Given the description of an element on the screen output the (x, y) to click on. 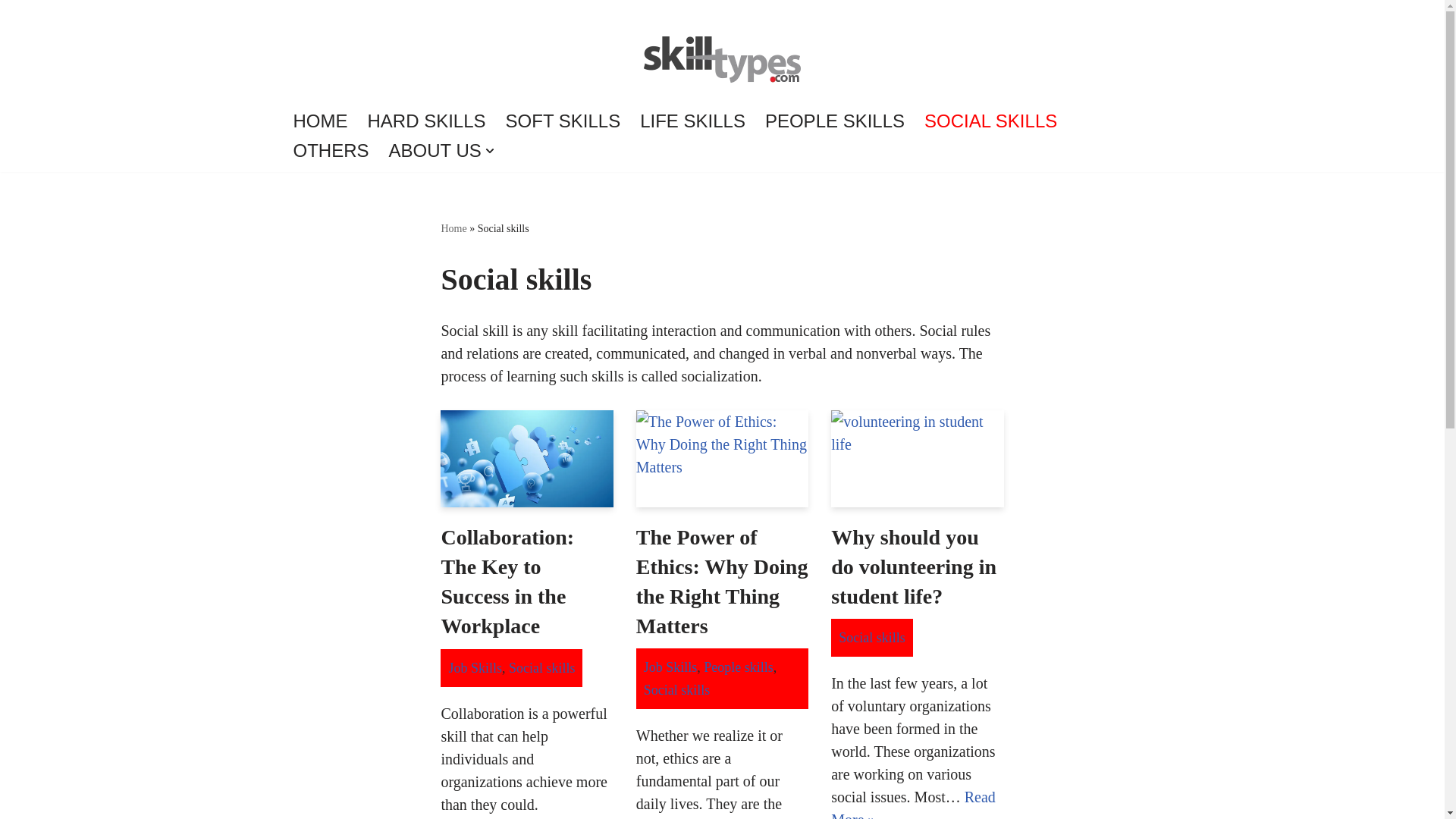
SOCIAL SKILLS (990, 120)
The Power of Ethics: Why Doing the Right Thing Matters (722, 458)
Collaboration: The Key to Success in the Workplace (526, 458)
HOME (319, 120)
Why should you do volunteering in student life? (917, 458)
OTHERS (330, 150)
Home (453, 228)
LIFE SKILLS (692, 120)
Job Skills (475, 667)
SOFT SKILLS (563, 120)
